Given the description of an element on the screen output the (x, y) to click on. 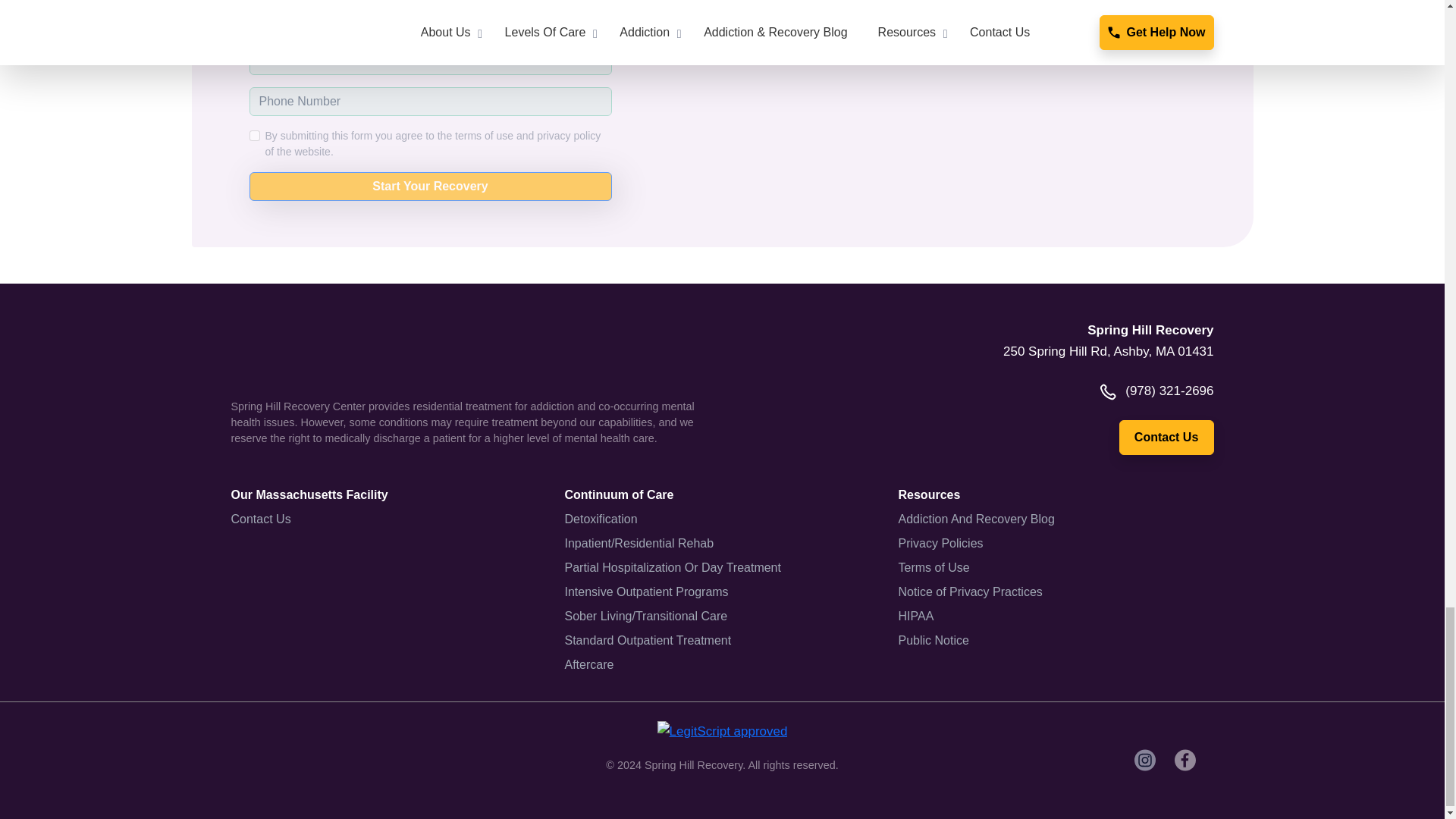
Verify LegitScript Approval (722, 730)
on (253, 135)
